Given the description of an element on the screen output the (x, y) to click on. 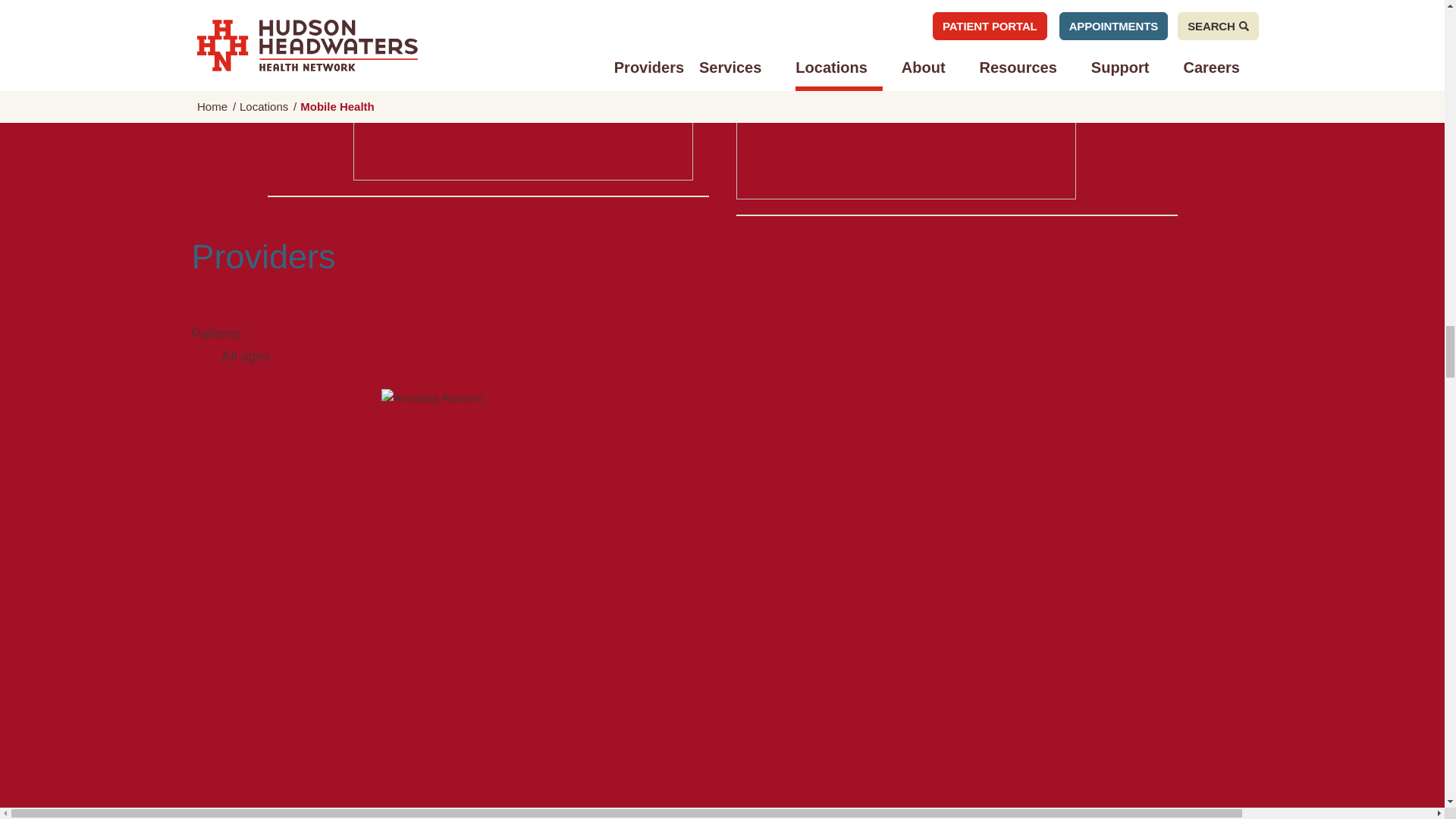
Nutrition Counseling and Diabetes Education (905, 101)
Screenings (479, 175)
